Given the description of an element on the screen output the (x, y) to click on. 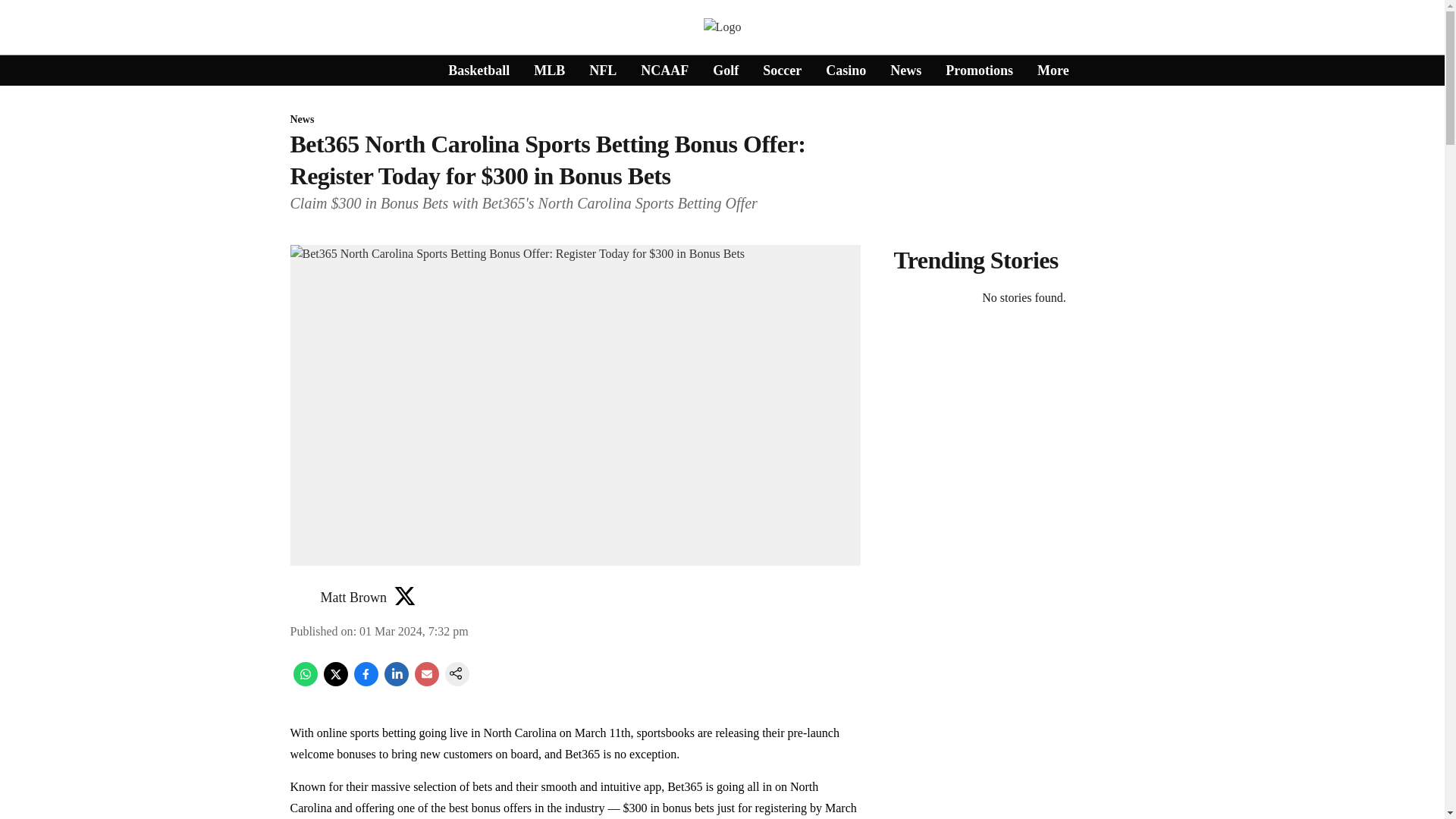
Casino (845, 70)
Golf (725, 70)
Soccer (782, 70)
MLB (549, 70)
Matt Brown (353, 597)
NFL (602, 70)
2024-03-01 19:32 (413, 631)
News (905, 70)
NCAAF (664, 70)
